Given the description of an element on the screen output the (x, y) to click on. 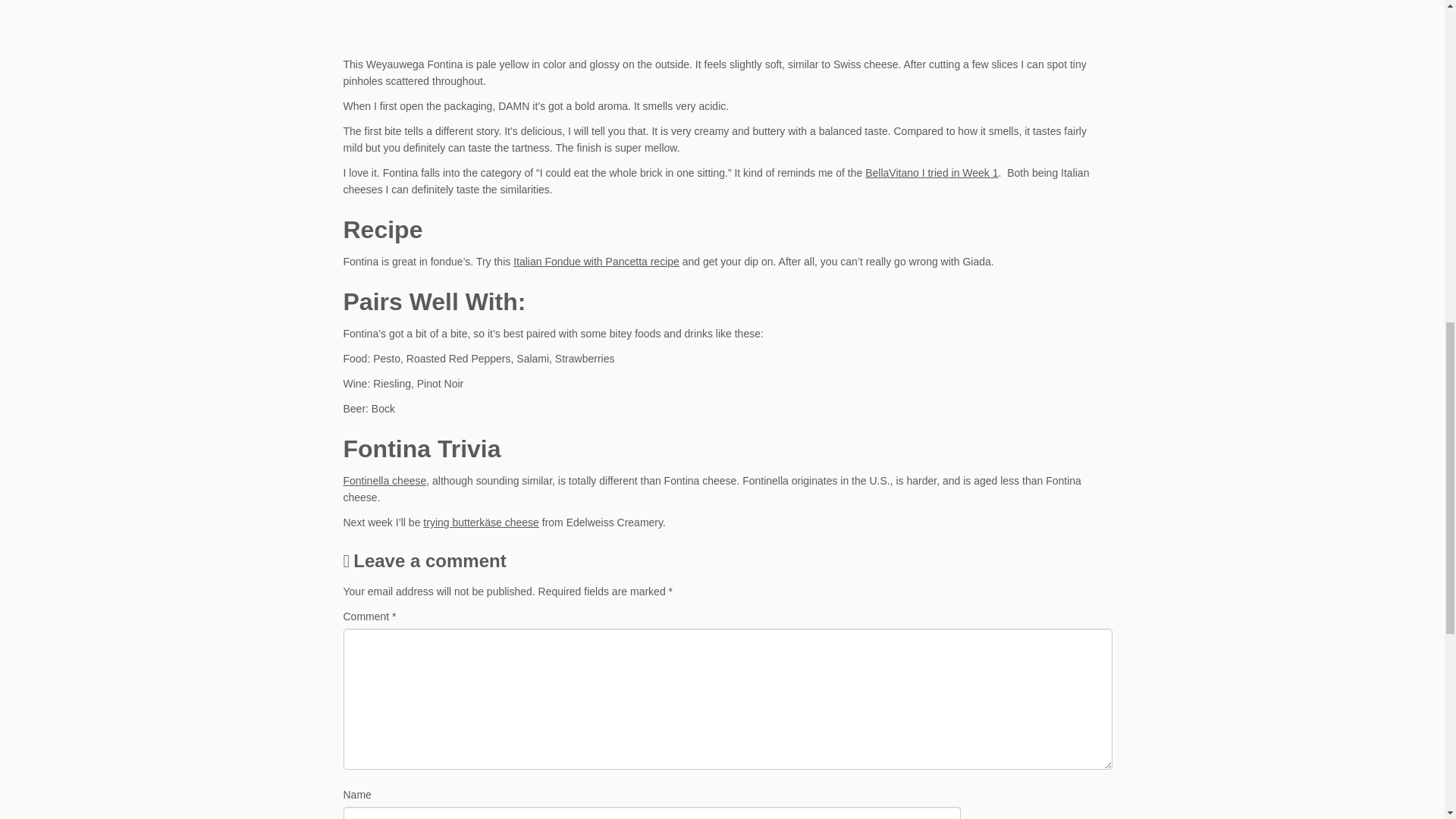
Italian Fondue with Pancetta recipe (596, 261)
Fontinella cheese (384, 480)
BellaVitano I tried in Week 1 (930, 173)
